Given the description of an element on the screen output the (x, y) to click on. 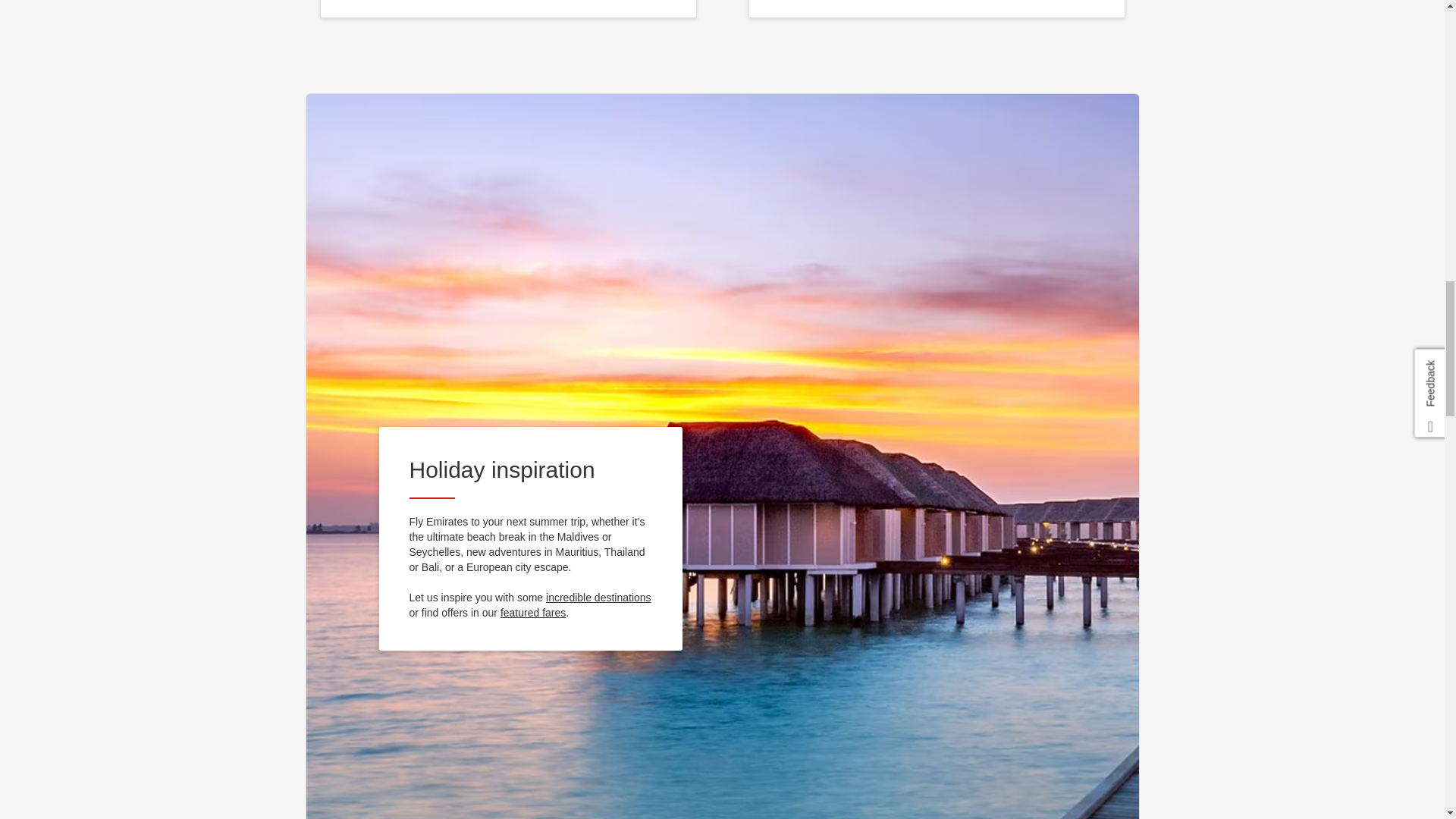
Holiday inspiration (598, 597)
Featured Fares (533, 612)
